Given the description of an element on the screen output the (x, y) to click on. 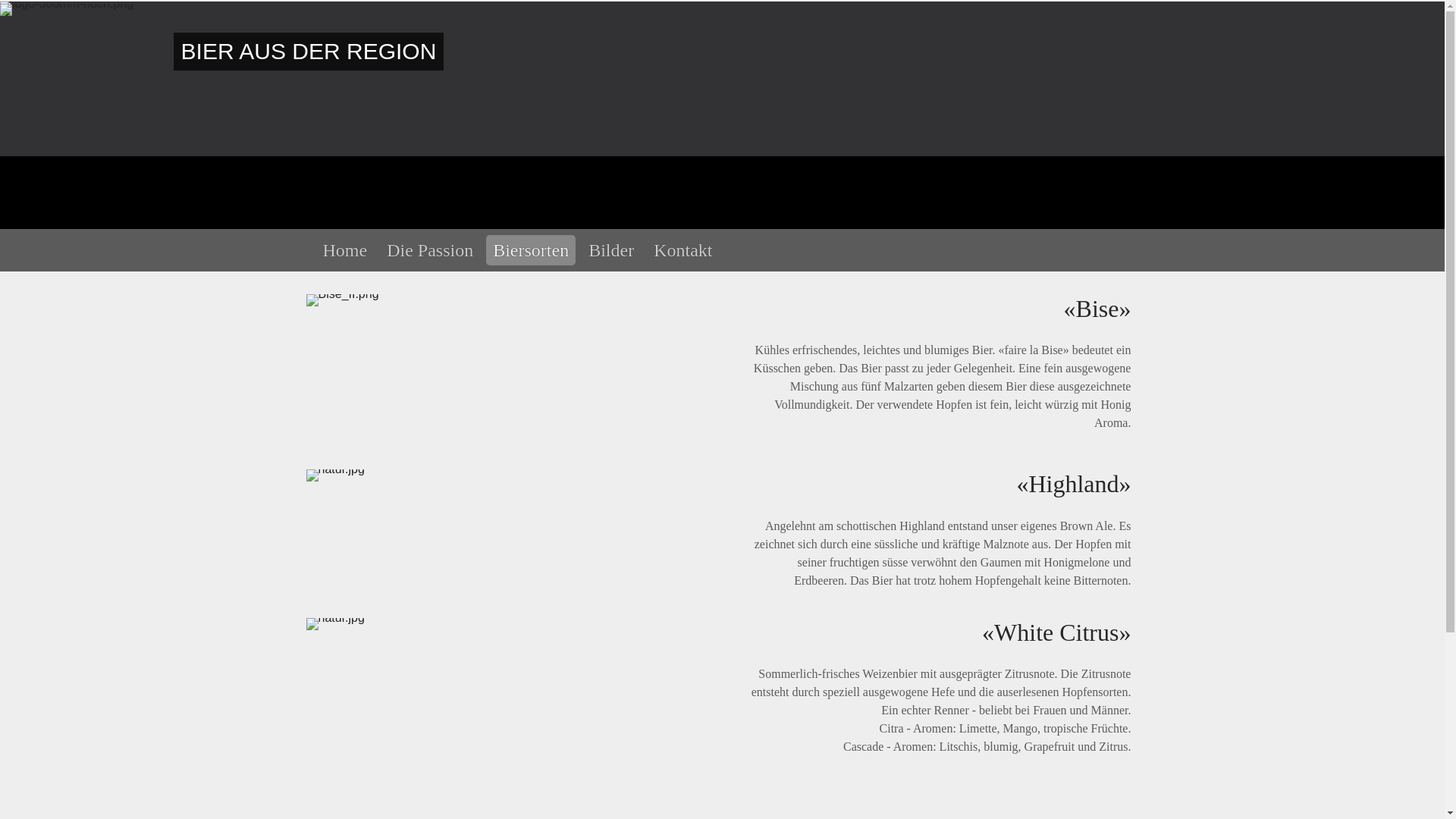
Die Passion Element type: text (429, 250)
Bilder Element type: text (610, 250)
Biersorten Element type: text (530, 250)
Kontakt Element type: text (682, 250)
Home Element type: text (344, 250)
